Given the description of an element on the screen output the (x, y) to click on. 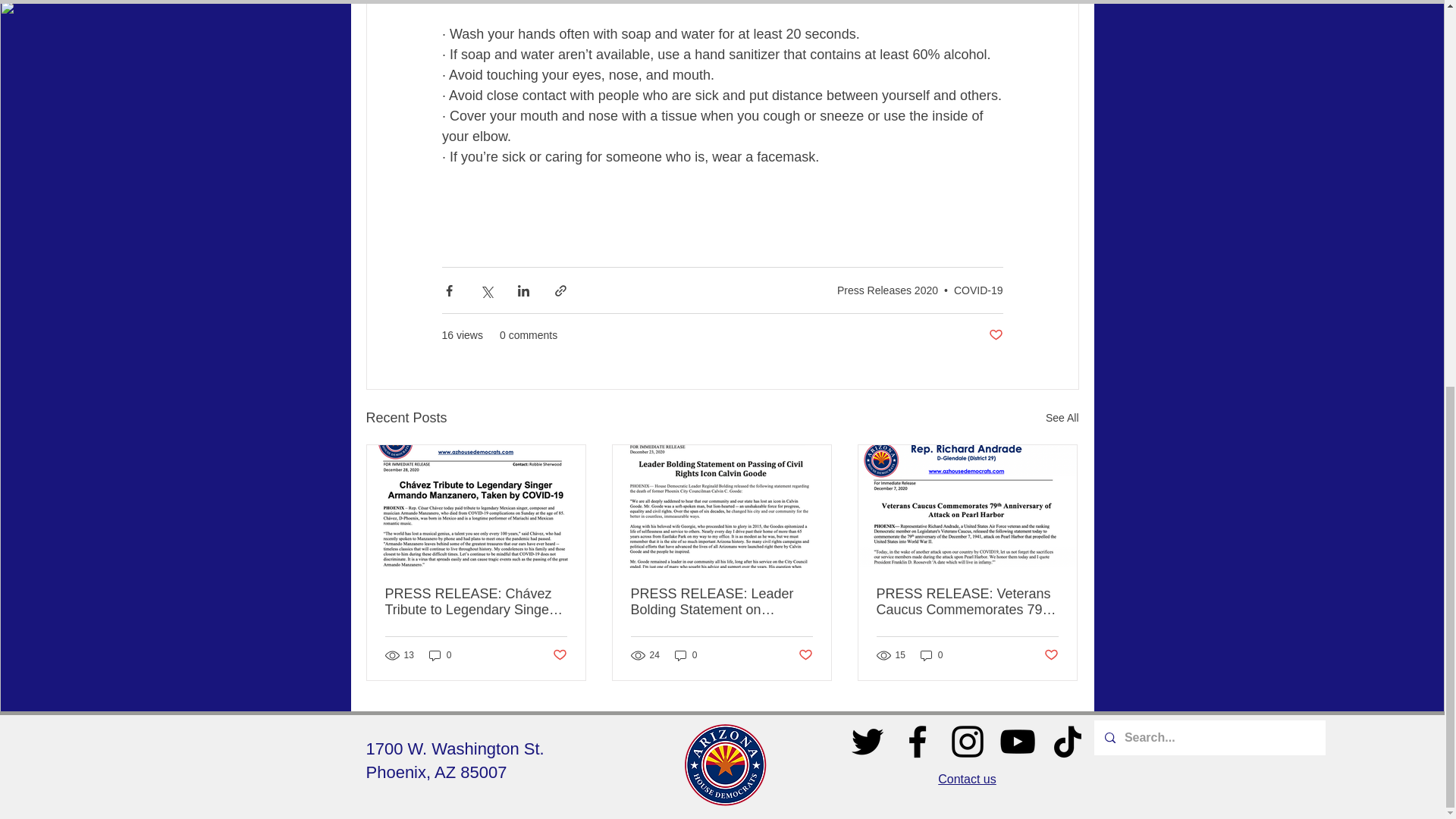
0 (685, 655)
COVID-19 (978, 290)
0 (931, 655)
0 (440, 655)
Contact us (966, 779)
Post not marked as liked (558, 654)
Post not marked as liked (804, 654)
Press Releases 2020 (887, 290)
See All (1061, 418)
Post not marked as liked (1050, 654)
Post not marked as liked (995, 335)
